Given the description of an element on the screen output the (x, y) to click on. 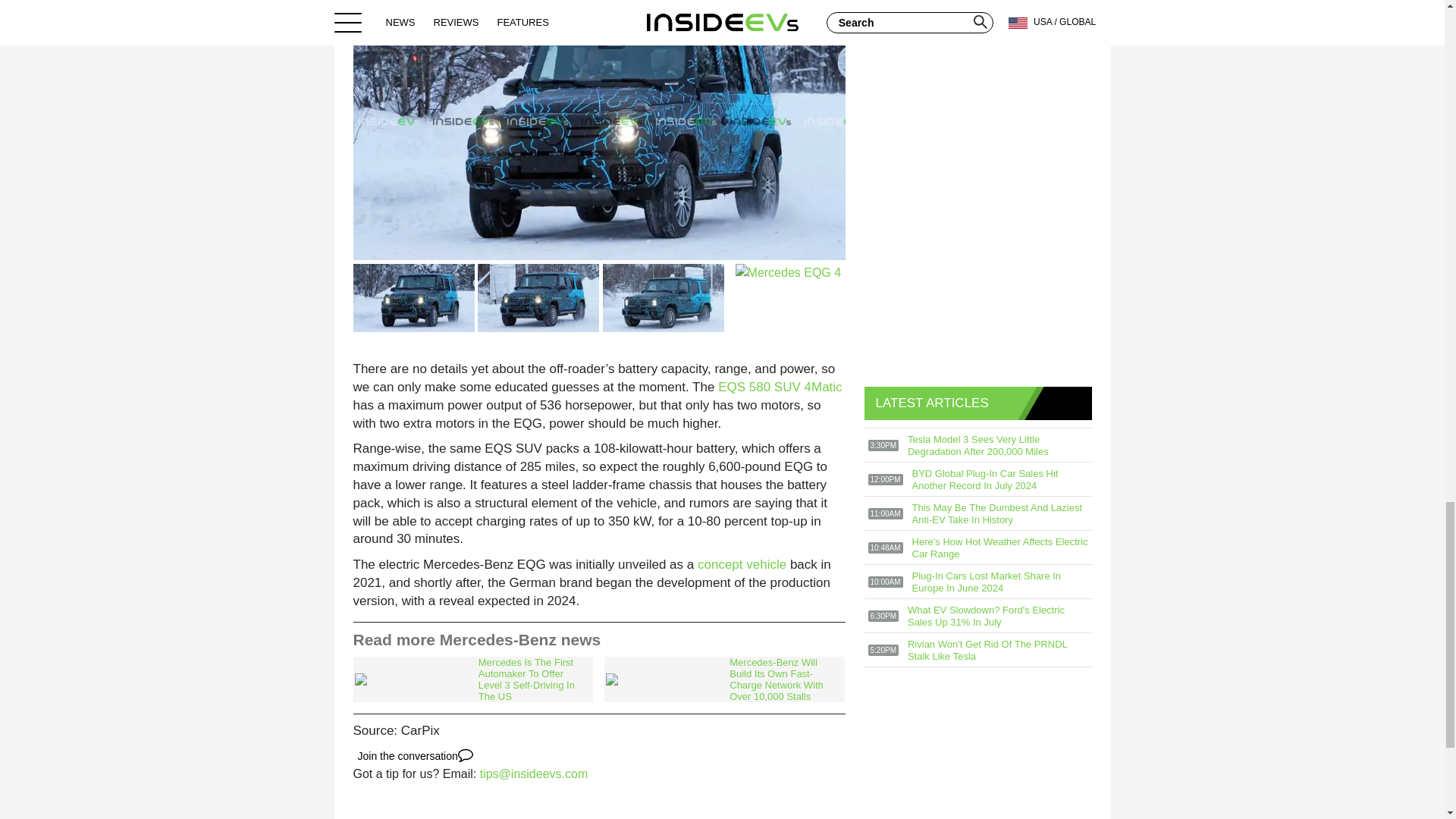
EQS 580 SUV 4Matic (779, 386)
concept vehicle (741, 564)
